Given the description of an element on the screen output the (x, y) to click on. 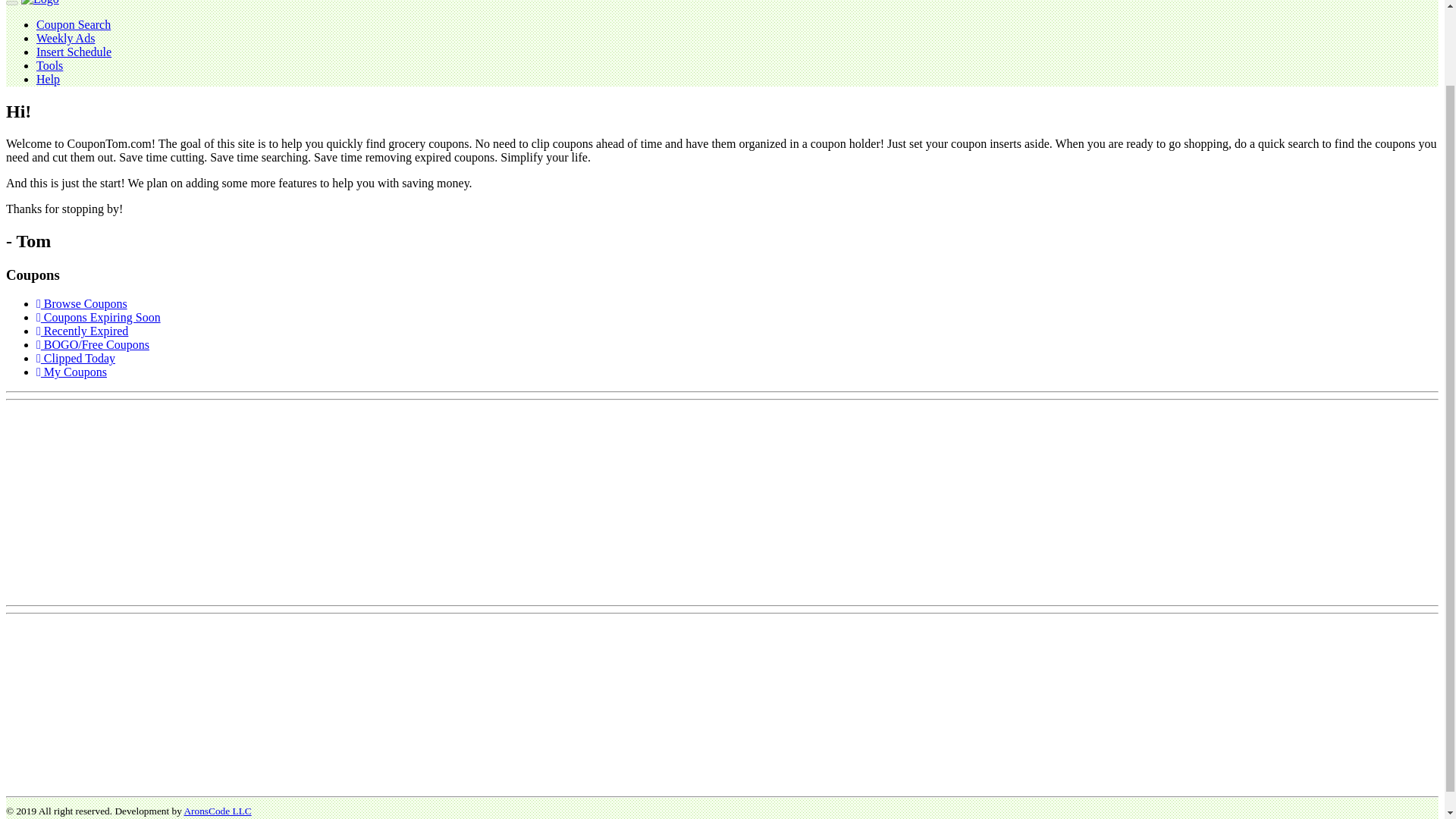
Recently Expired (82, 330)
AronsCode LLC (216, 810)
Insert Schedule (74, 51)
Weekly Ads (65, 38)
Clipped Today (75, 358)
Coupon Search (73, 24)
Advertisement (118, 501)
My Coupons (71, 371)
Browse Coupons (82, 303)
Coupons Expiring Soon (98, 317)
Help (47, 78)
Tools (49, 65)
